Given the description of an element on the screen output the (x, y) to click on. 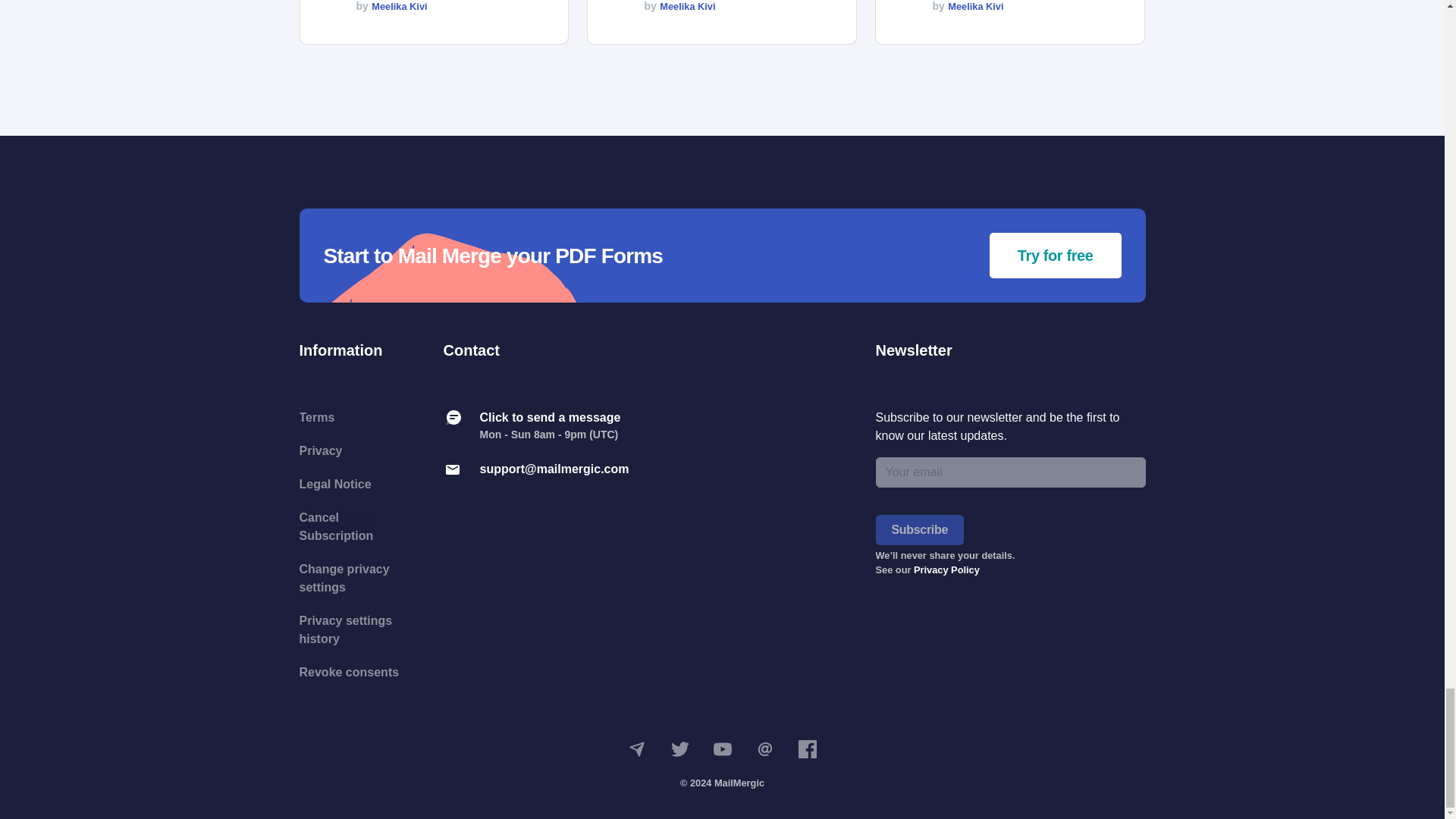
Facebook icon (806, 749)
Meelika Kivi (398, 6)
Twitter icon (678, 749)
Subscribe (919, 530)
YouTube icon (721, 749)
